Given the description of an element on the screen output the (x, y) to click on. 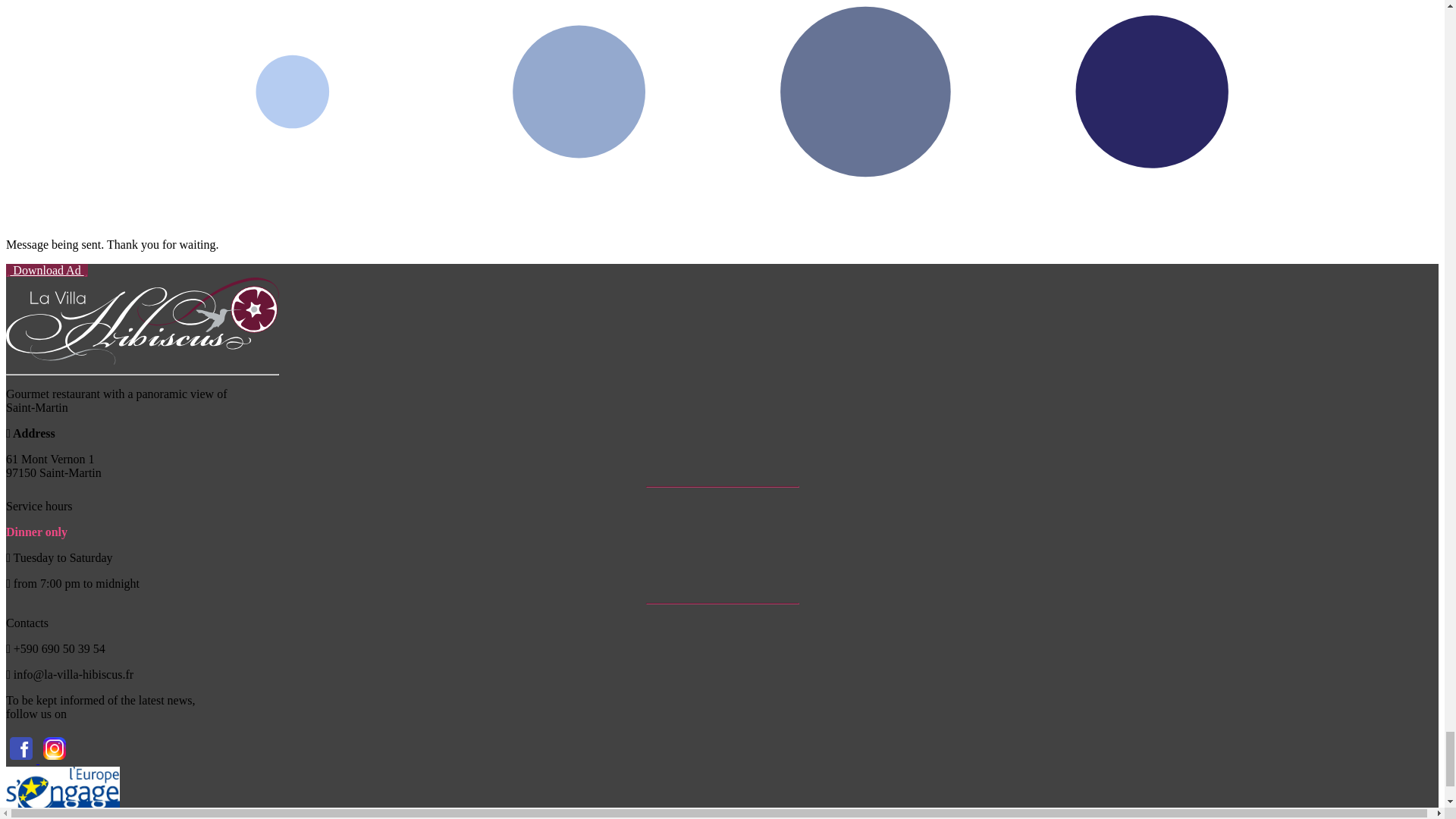
Download Ad (46, 269)
Facebook (22, 758)
Instagram (54, 758)
